Given the description of an element on the screen output the (x, y) to click on. 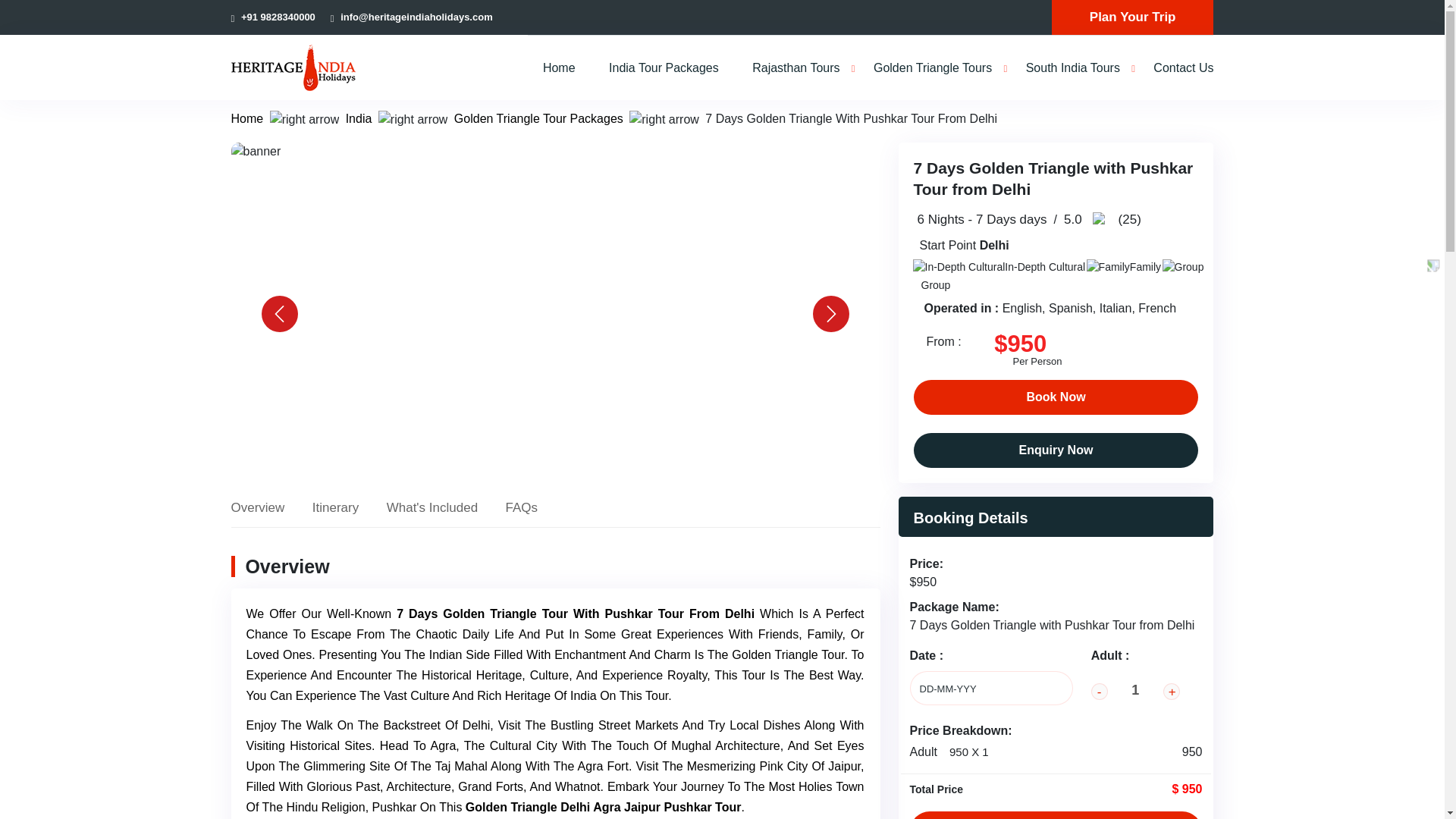
1 (1135, 690)
Golden Triangle Tours (932, 67)
Rajasthan Tours (796, 67)
India Tour Packages (663, 67)
Plan Your Trip (1132, 17)
